Given the description of an element on the screen output the (x, y) to click on. 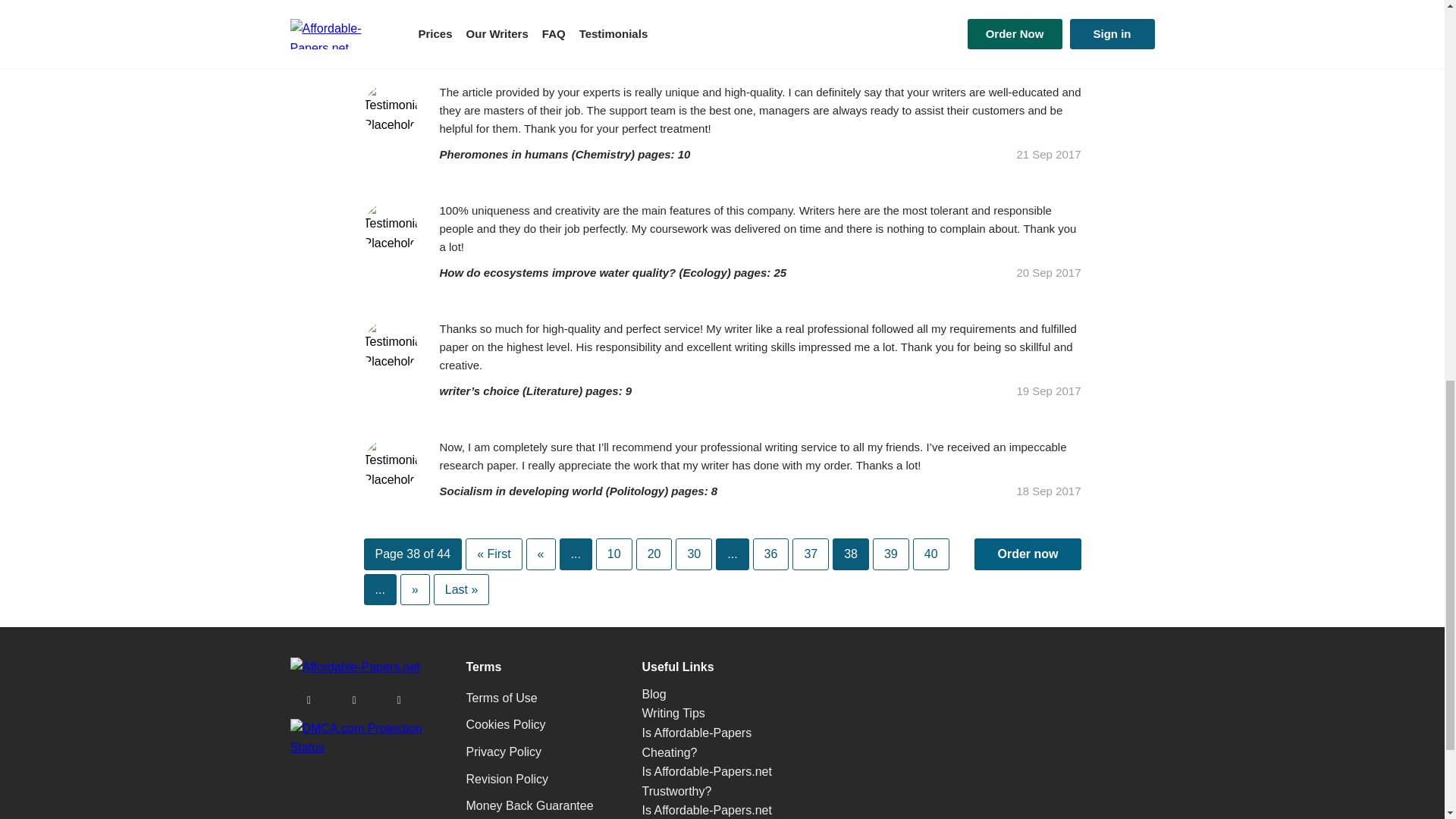
36 (770, 554)
30 (693, 554)
Money Back Guarantee (528, 803)
39 (890, 554)
Page 20 (654, 554)
Affordable-Papers.net (354, 666)
Page 40 (930, 554)
Is Affordable-Papers.net Legit? (706, 805)
37 (810, 554)
Follow us at Facebook (398, 699)
Is Affordable-Papers.net Trustworthy? (706, 781)
Page 37 (810, 554)
Page 30 (693, 554)
Order now (1027, 554)
Page 39 (890, 554)
